Given the description of an element on the screen output the (x, y) to click on. 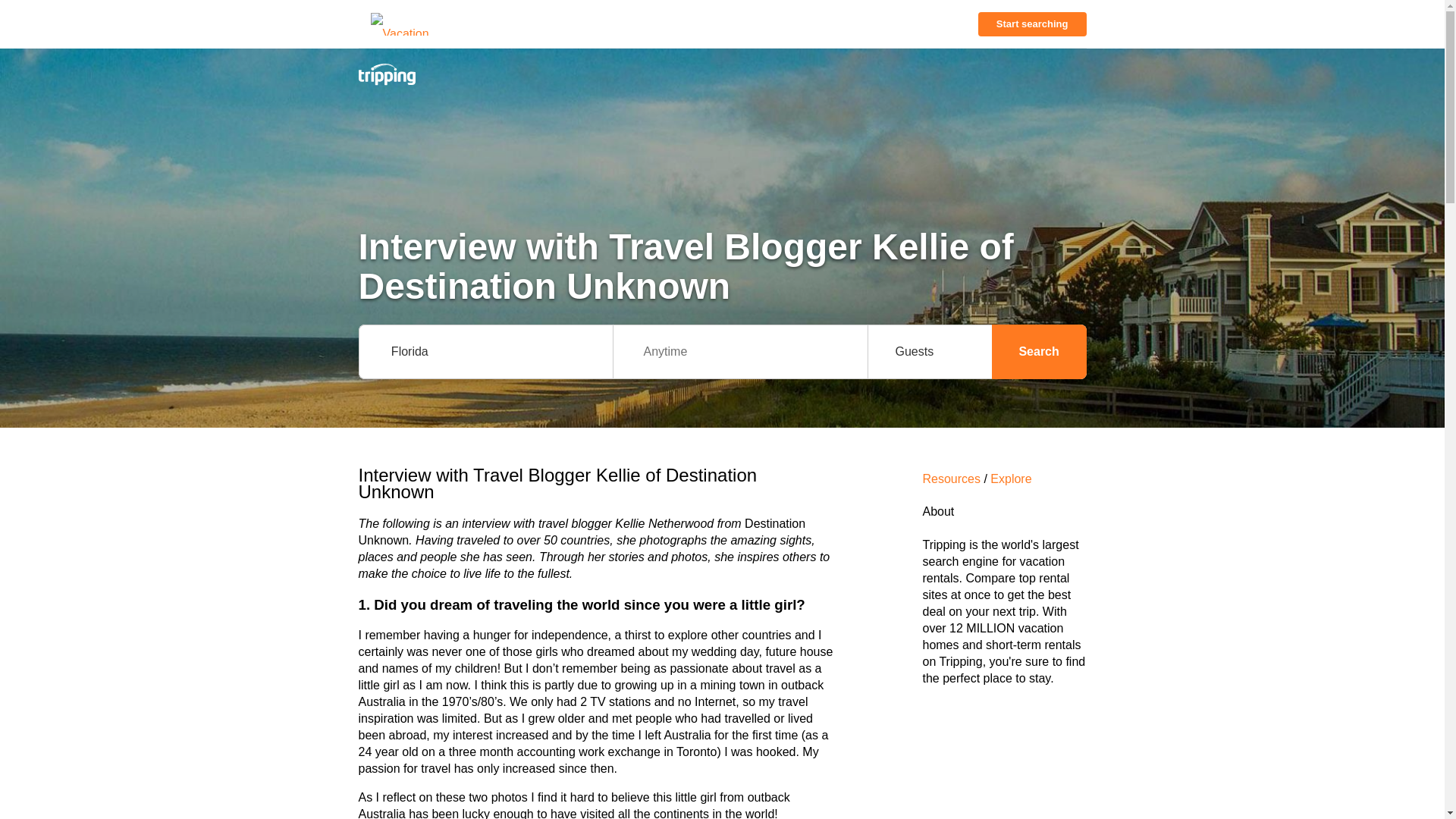
Resources (950, 478)
Start searching (1032, 24)
Search (1038, 351)
Explore (1010, 478)
